Given the description of an element on the screen output the (x, y) to click on. 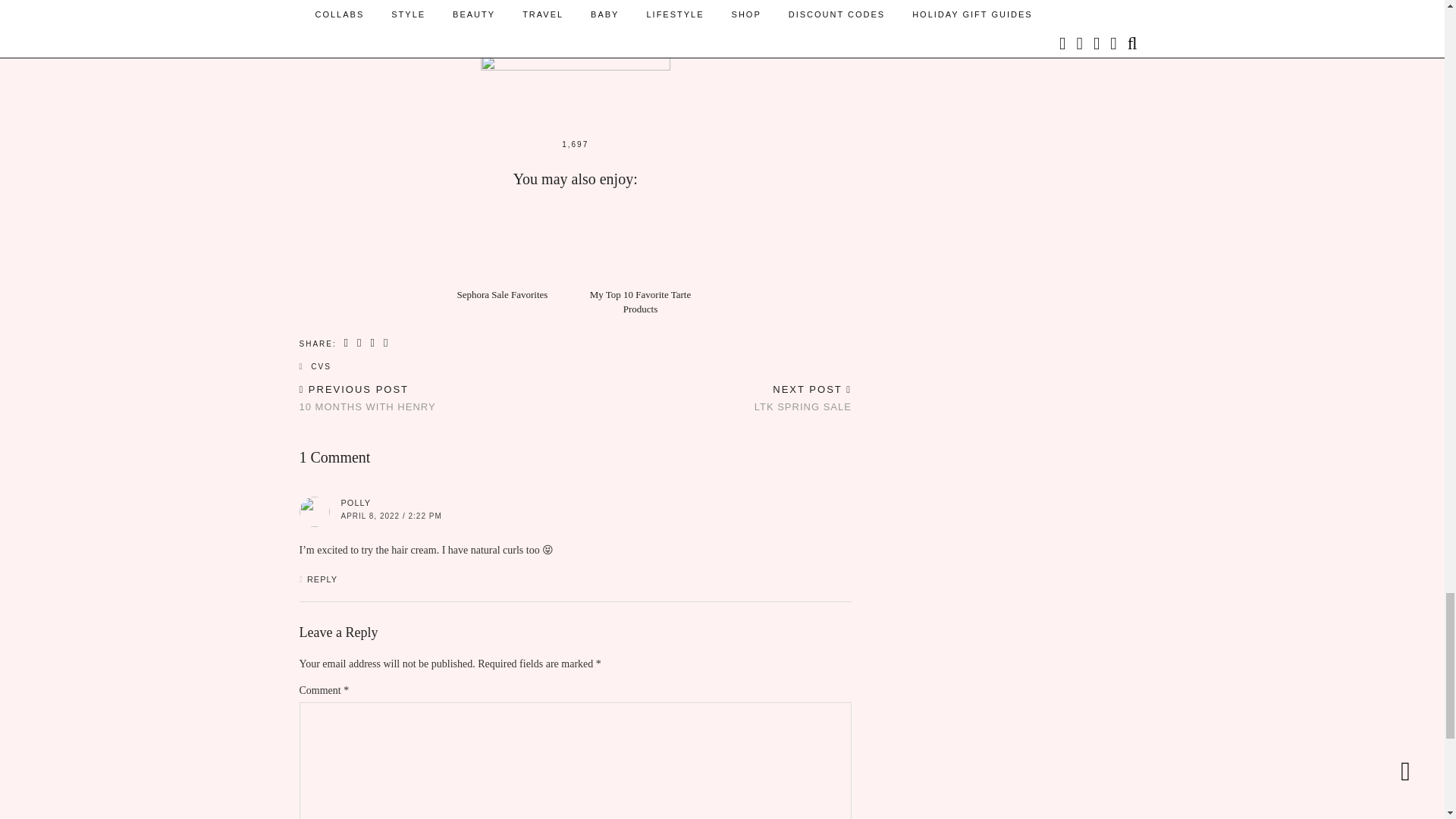
My Top 10 Favorite Tarte Products (639, 301)
Sephora Sale Favorites (502, 294)
My Top 10 Favorite Tarte Products (802, 398)
CVS (639, 301)
Share on Facebook (321, 366)
Sephora Sale Favorites (346, 343)
Share on Twitter (366, 398)
Sephora Sale Favorites (502, 294)
